Given the description of an element on the screen output the (x, y) to click on. 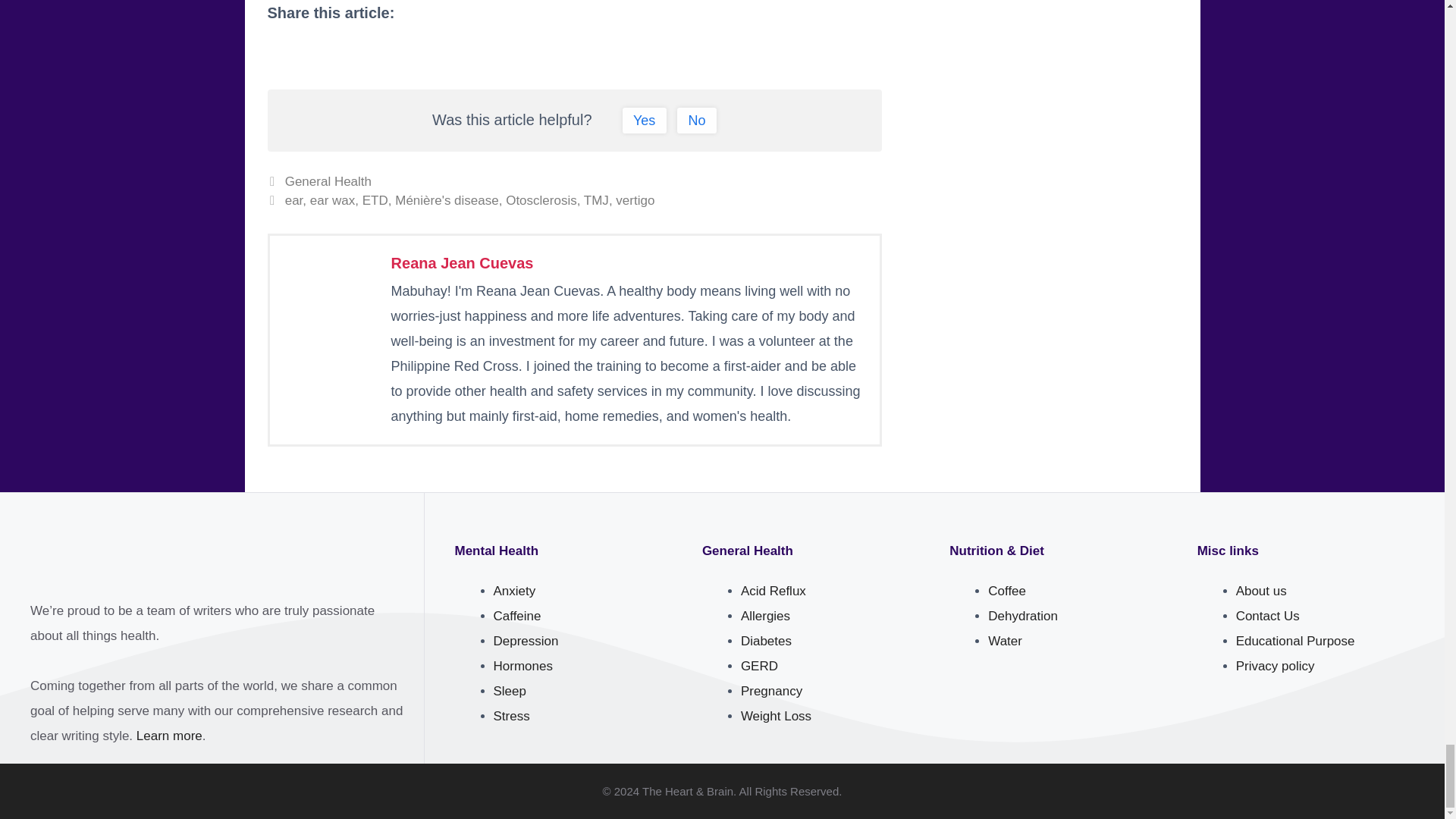
ear wax (332, 200)
vertigo (634, 200)
Otosclerosis (540, 200)
Reana Jean Cuevas (462, 262)
ETD (375, 200)
logo2 (81, 563)
General Health (328, 181)
TMJ (595, 200)
ear (293, 200)
